Given the description of an element on the screen output the (x, y) to click on. 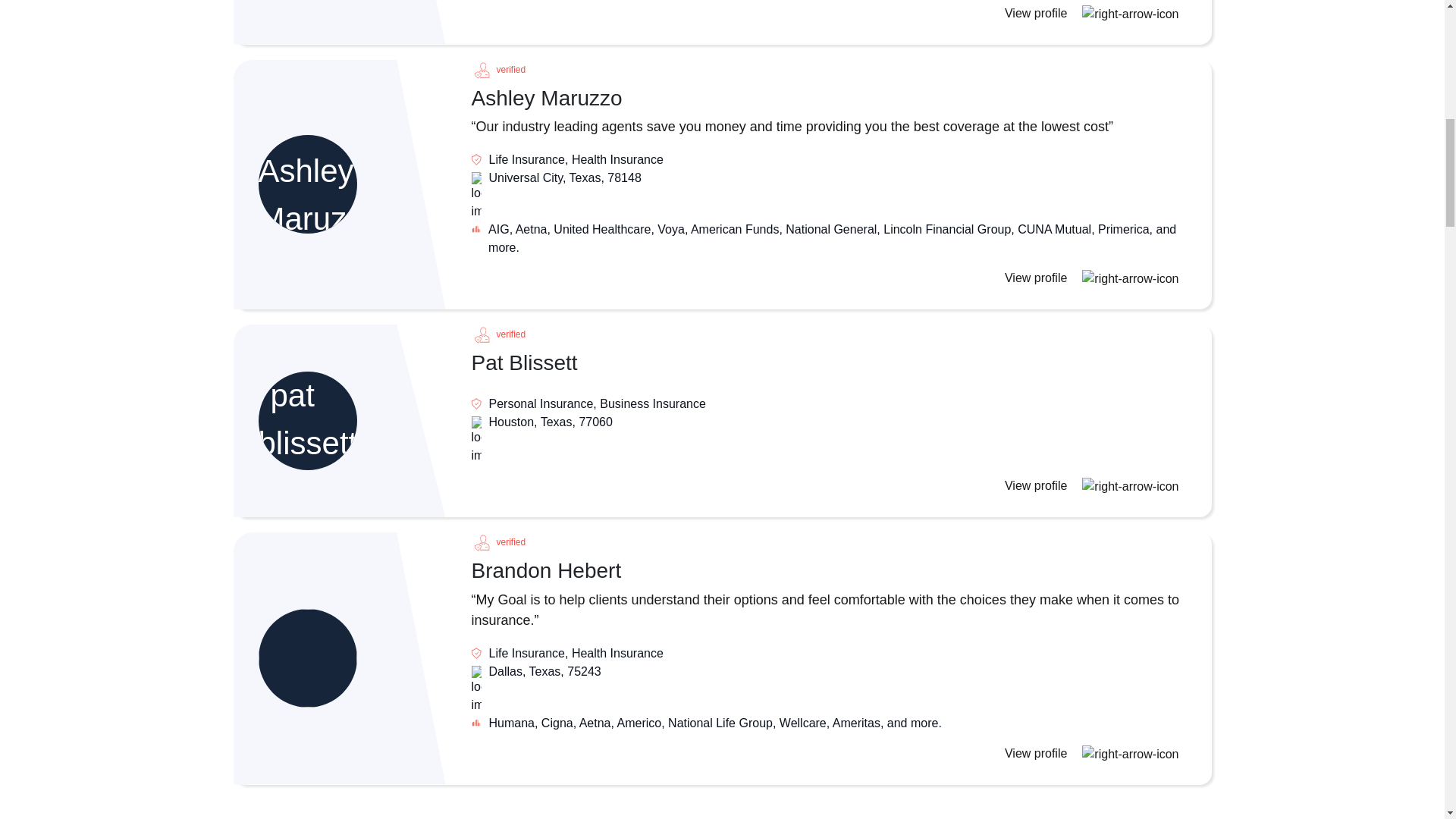
View profile (1095, 753)
View profile (1095, 485)
View profile (1095, 12)
View profile (1095, 277)
